Given the description of an element on the screen output the (x, y) to click on. 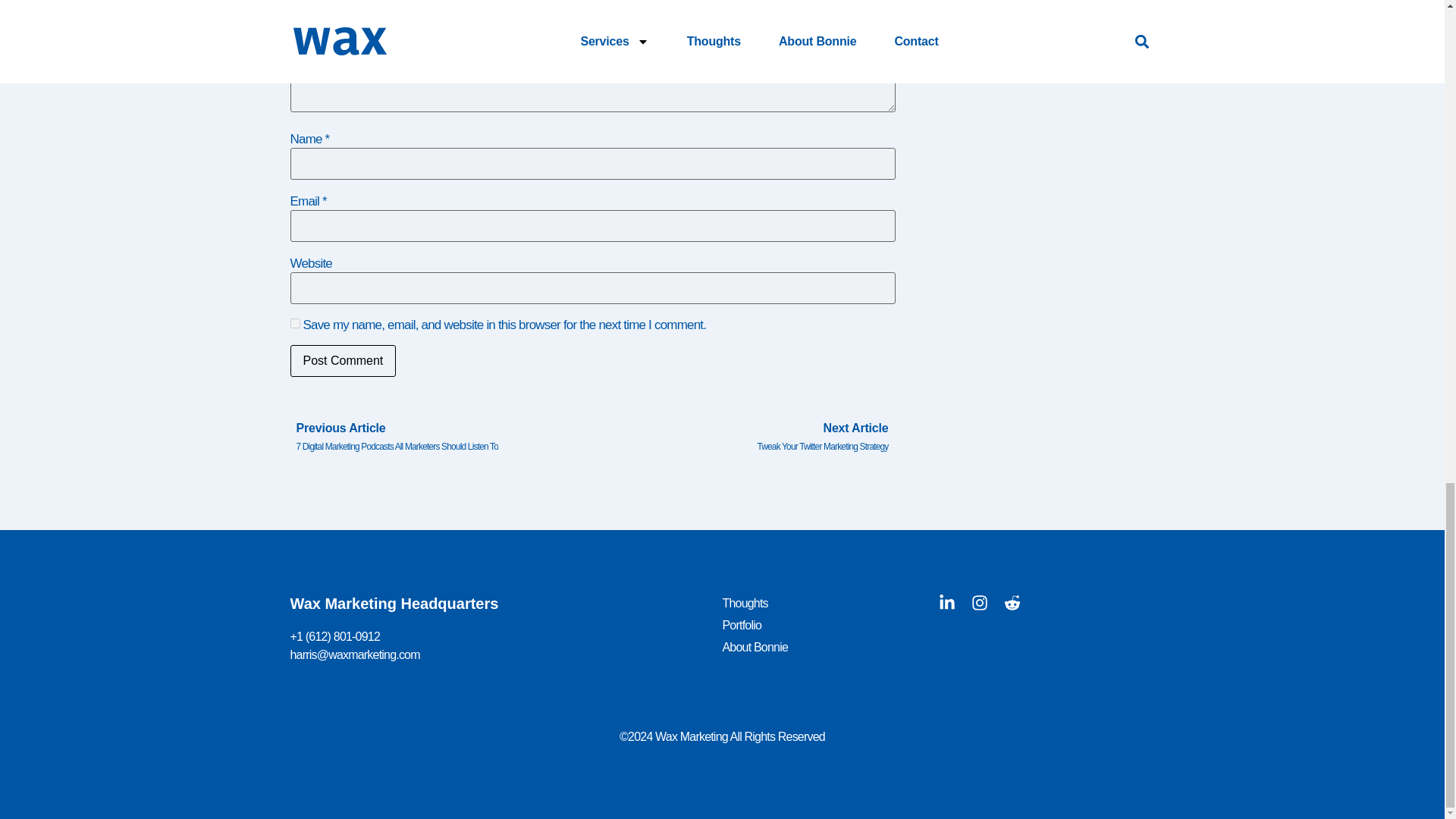
Post Comment (342, 360)
yes (294, 323)
Post Comment (342, 360)
